Given the description of an element on the screen output the (x, y) to click on. 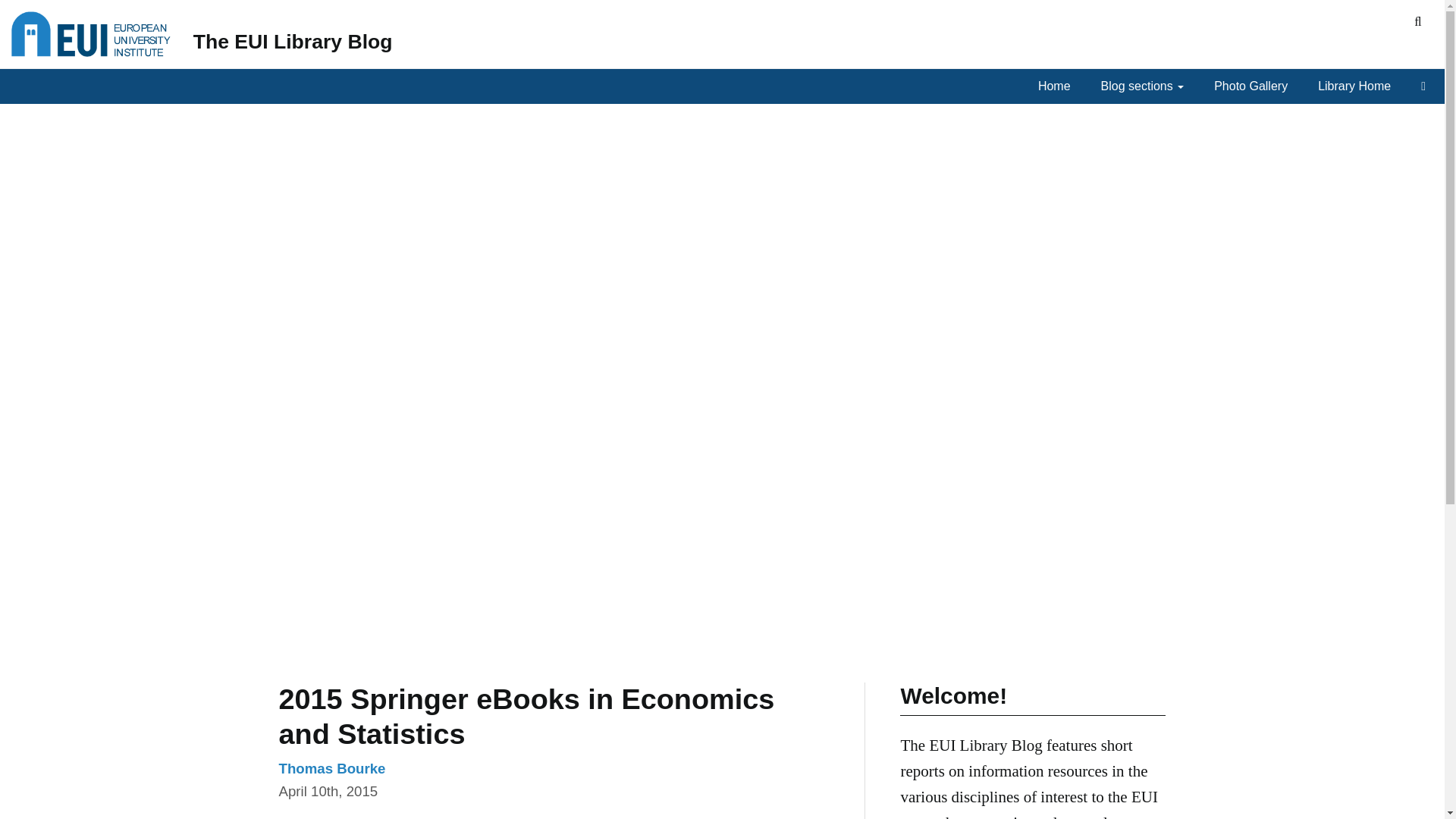
Library Home (1357, 86)
Thomas Bourke (332, 767)
Blog sections (1146, 86)
Blog sections (1146, 86)
Home (1058, 86)
Toggle search box (1417, 22)
Home page of The EUI Library Blog (293, 41)
Photo Gallery (1254, 86)
Home (1058, 86)
Photo Gallery (1254, 86)
Library Home (1357, 86)
The EUI Library Blog (293, 41)
